Given the description of an element on the screen output the (x, y) to click on. 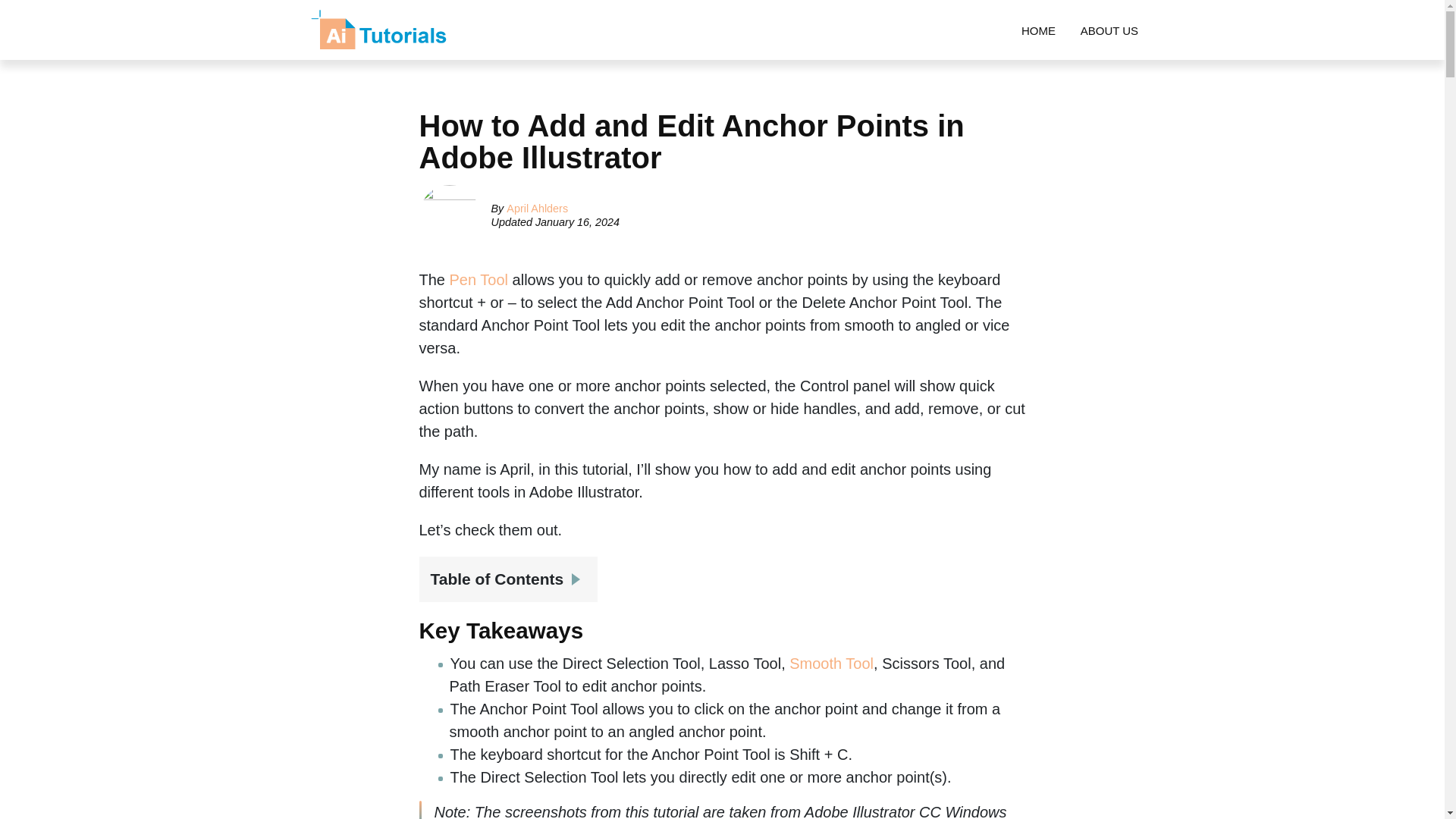
Home (1038, 30)
About Us (1108, 30)
Smooth Tool (831, 663)
ABOUT US (1108, 30)
HOME (1038, 30)
April Ahlders (536, 208)
Pen Tool (478, 279)
show (580, 573)
